Given the description of an element on the screen output the (x, y) to click on. 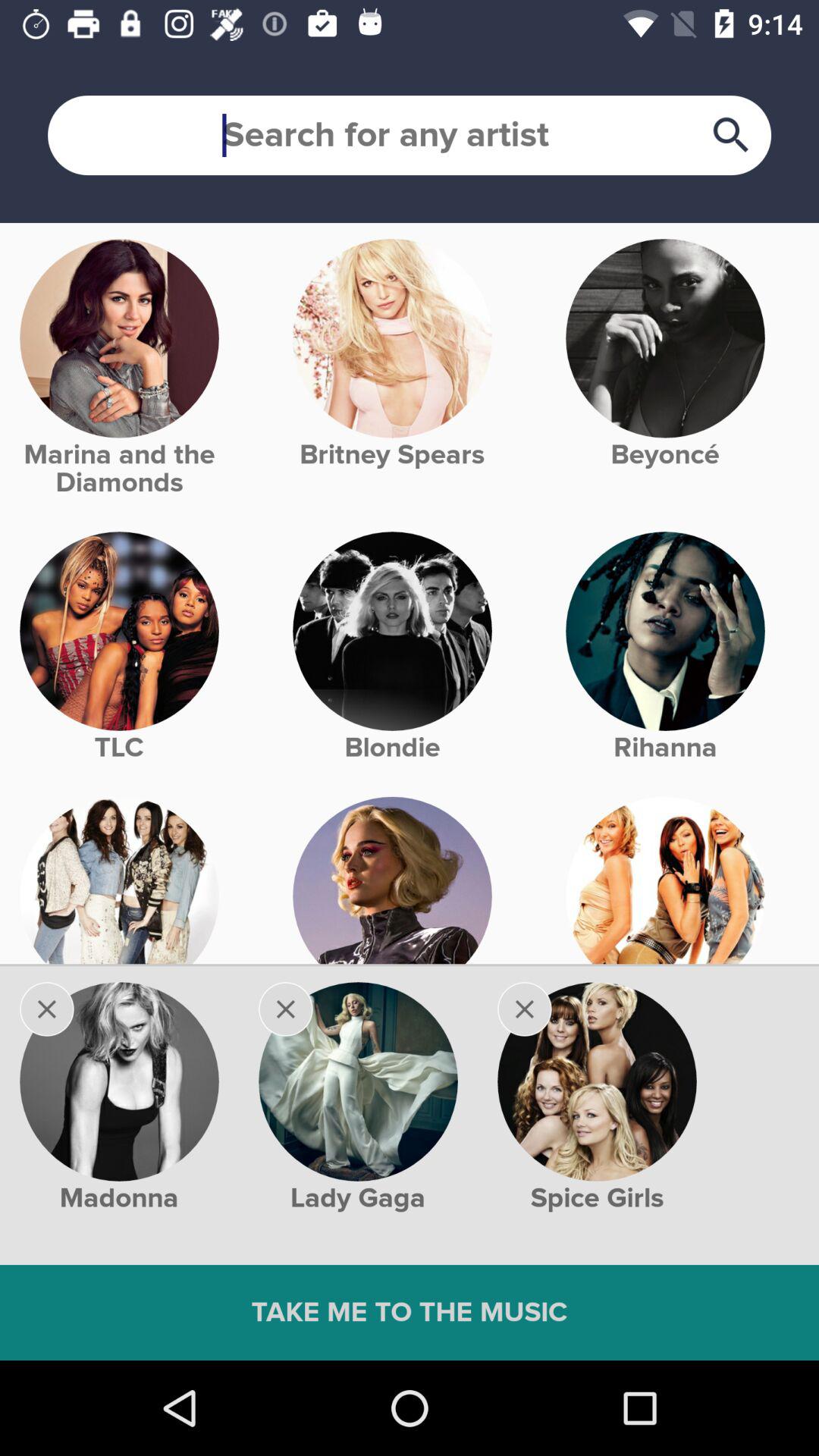
search (409, 135)
